Given the description of an element on the screen output the (x, y) to click on. 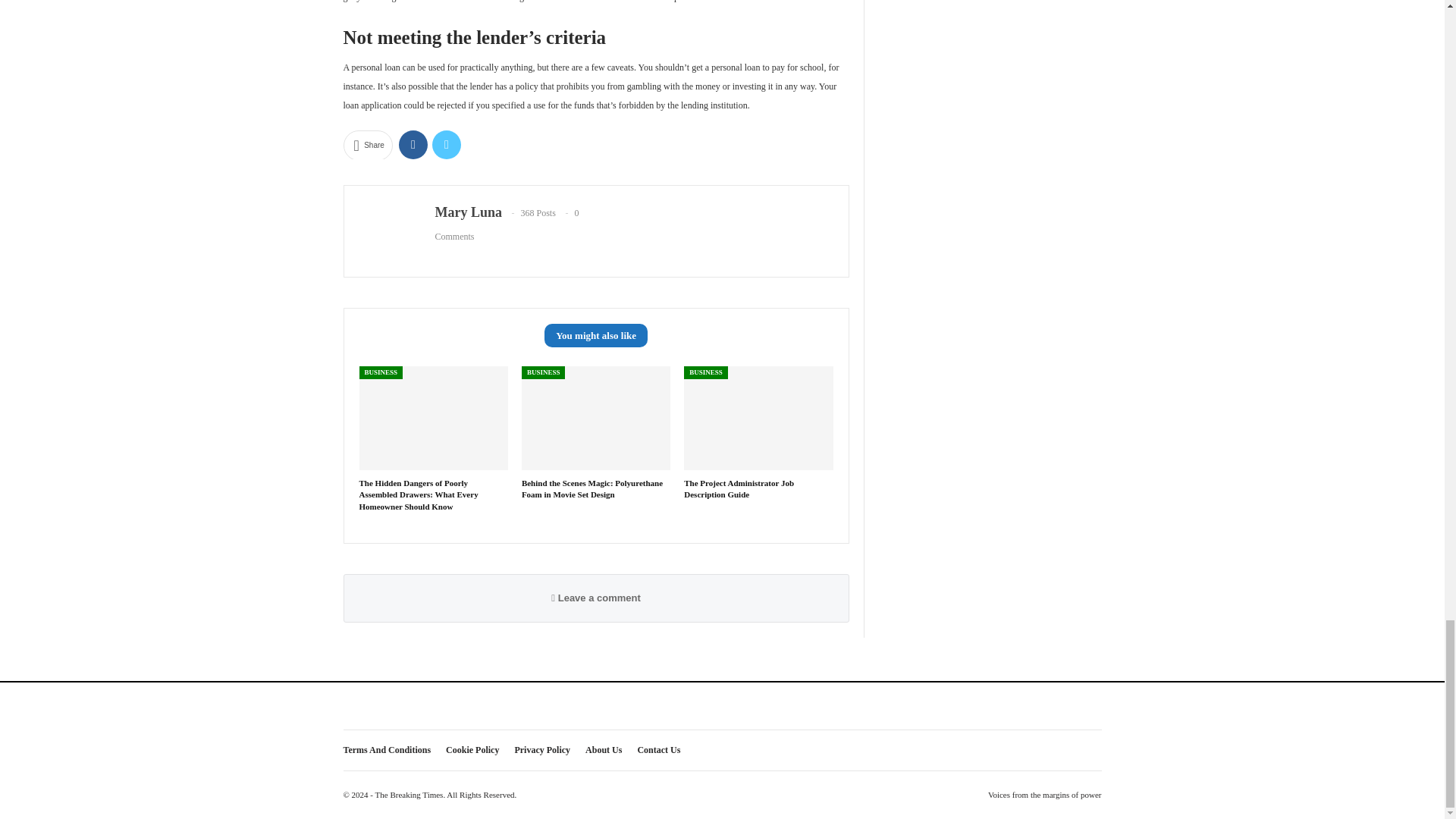
The Project Administrator Job Description Guide (738, 488)
Leave a comment (595, 597)
here (715, 1)
BUSINESS (381, 372)
The Project Administrator Job Description Guide (758, 418)
Mary Luna (468, 212)
The Project Administrator Job Description Guide (738, 488)
